Given the description of an element on the screen output the (x, y) to click on. 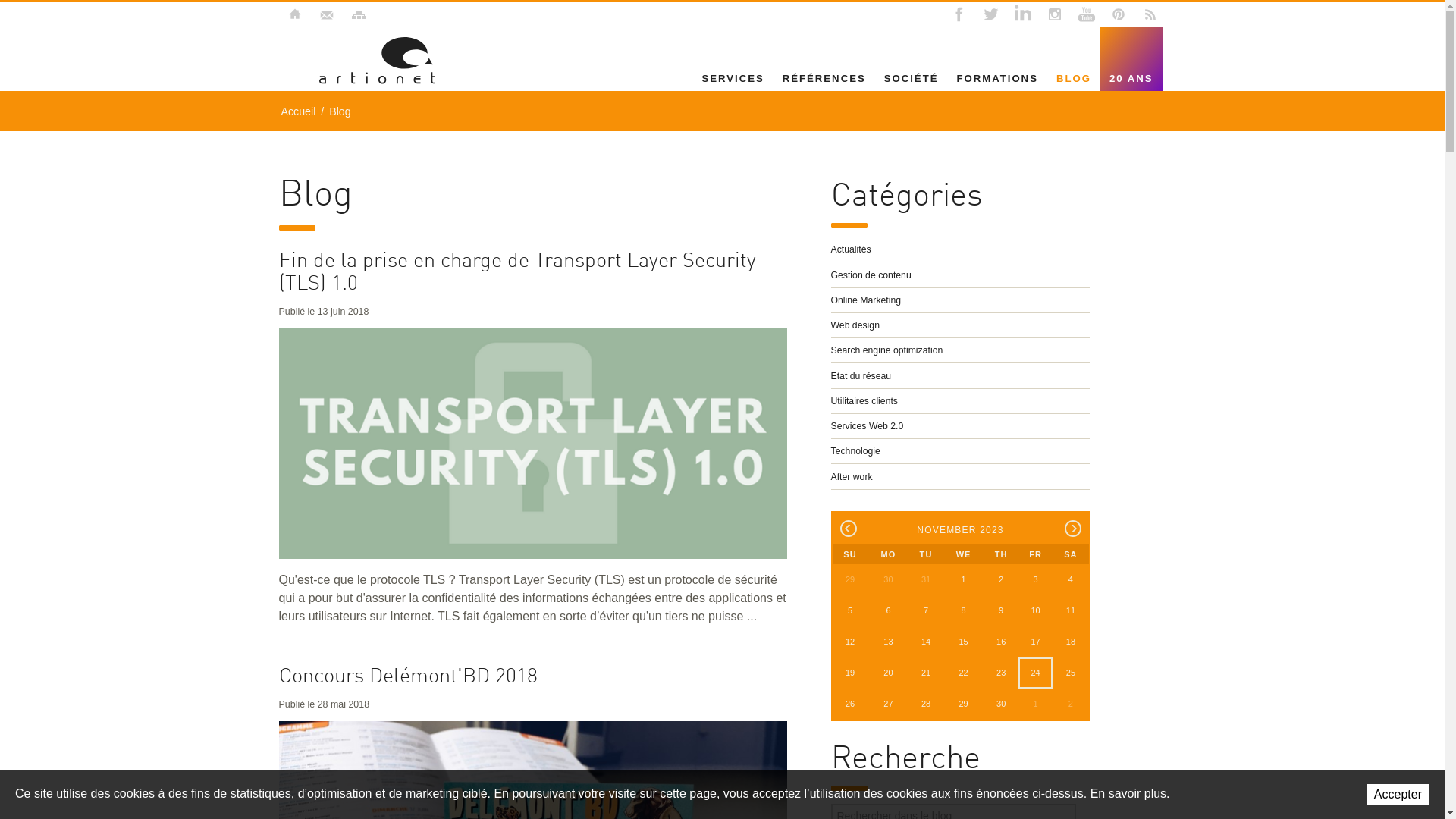
Utilitaires clients Element type: text (960, 400)
20 ANS Element type: text (1131, 78)
Plan du site Element type: text (357, 14)
Pinterest Element type: text (1117, 14)
Services Web 2.0 Element type: text (960, 425)
PREV Element type: text (848, 528)
SERVICES Element type: text (732, 78)
Technologie Element type: text (960, 450)
NEXT Element type: text (1072, 528)
BLOG Element type: text (1073, 78)
Gestion de contenu Element type: text (960, 274)
Web design Element type: text (960, 324)
Contact Element type: text (325, 14)
YouTube Element type: text (1085, 14)
Blog Element type: text (339, 111)
Accueil Element type: text (297, 111)
Twitter Element type: text (990, 14)
After work Element type: text (960, 476)
Instagram Element type: text (1053, 14)
Linkedin Element type: text (1022, 14)
RSS Element type: text (1149, 14)
Facebook Element type: text (958, 14)
Accueil Element type: text (294, 14)
Search engine optimization Element type: text (960, 349)
Online Marketing Element type: text (960, 299)
Accepter Element type: text (1397, 794)
FORMATIONS Element type: text (996, 78)
Blog Element type: text (376, 60)
